Given the description of an element on the screen output the (x, y) to click on. 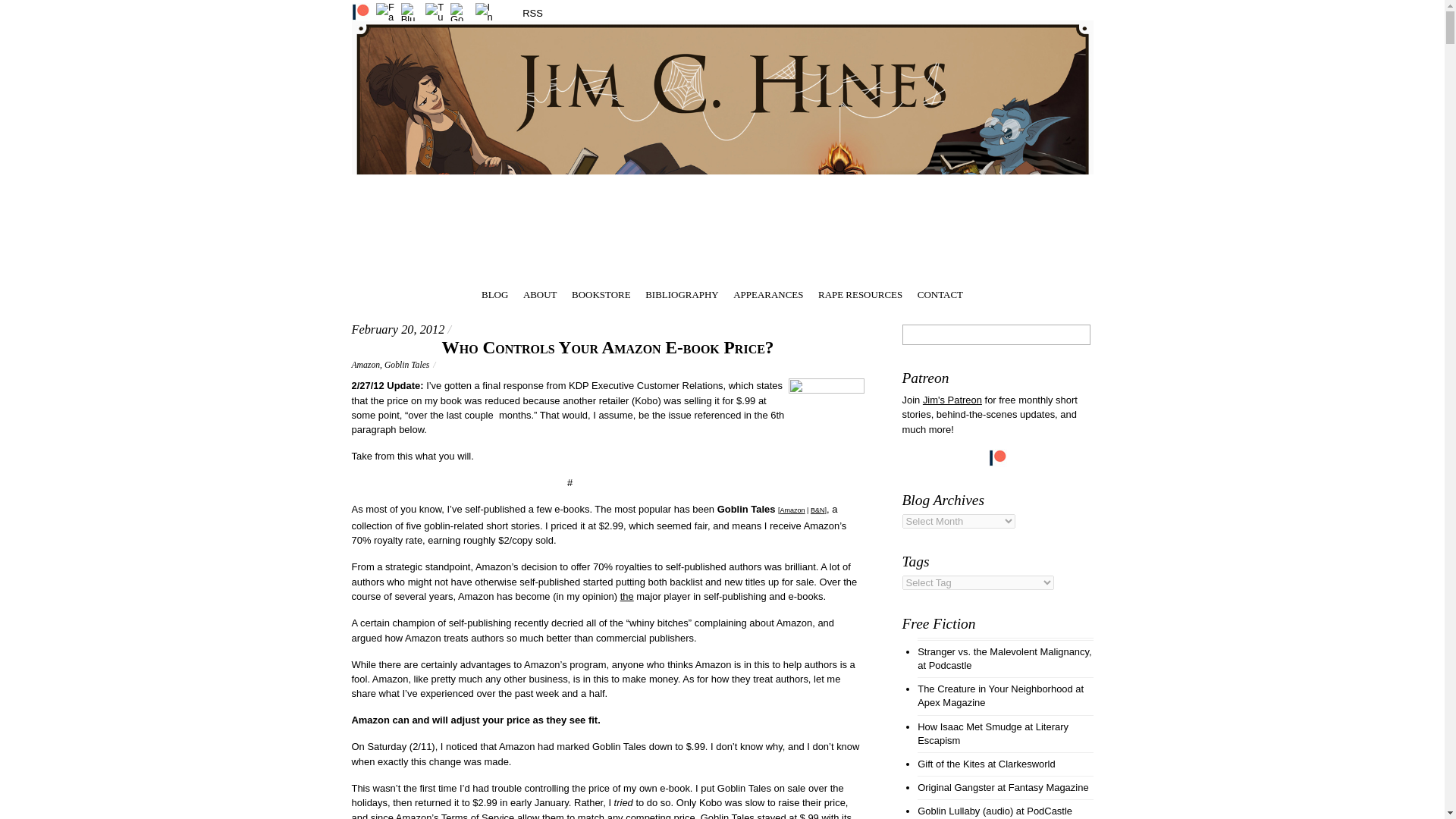
Amazon (366, 365)
Who Controls Your Amazon E-book Price? (607, 347)
APPEARANCES (768, 292)
Amazon (792, 510)
Search (996, 334)
Jim C. Hines (722, 269)
BOOKSTORE (601, 292)
ABOUT (539, 292)
BIBLIOGRAPHY (681, 292)
CONTACT (939, 292)
